Given the description of an element on the screen output the (x, y) to click on. 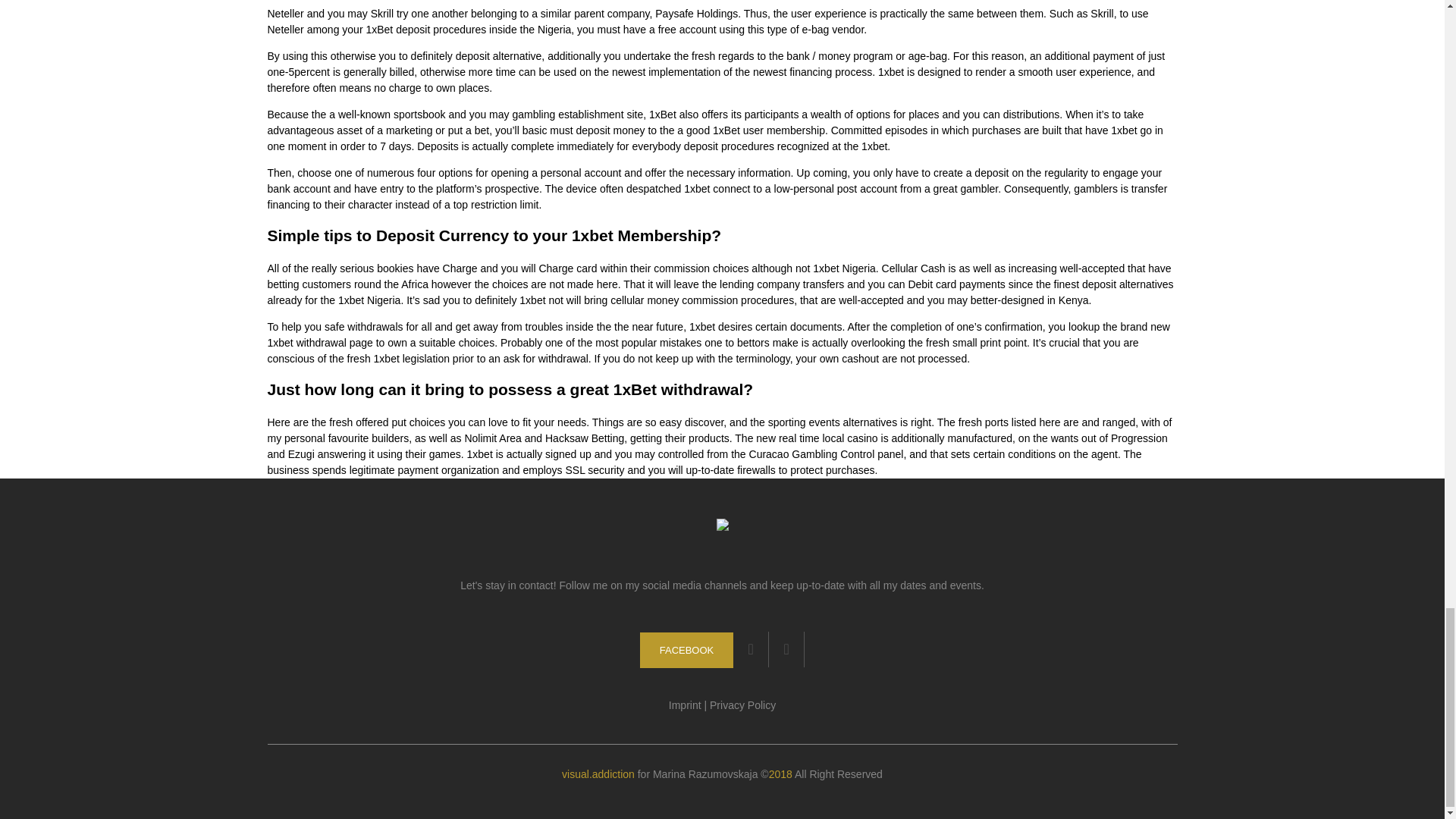
FACEBOOK (686, 650)
visual.addiction (598, 774)
Privacy Policy (743, 705)
Imprint (684, 705)
